Given the description of an element on the screen output the (x, y) to click on. 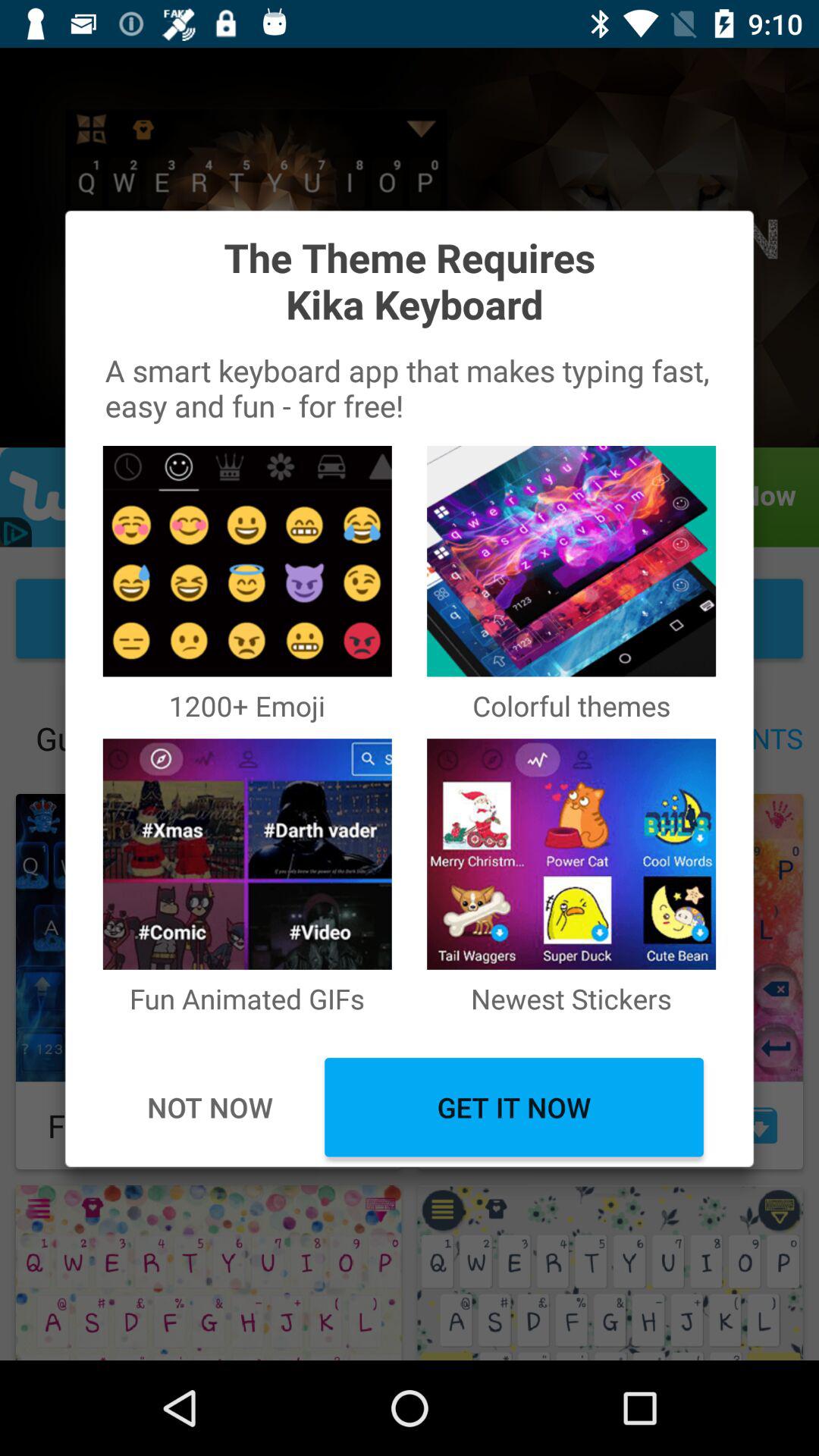
click the not now (209, 1106)
